Given the description of an element on the screen output the (x, y) to click on. 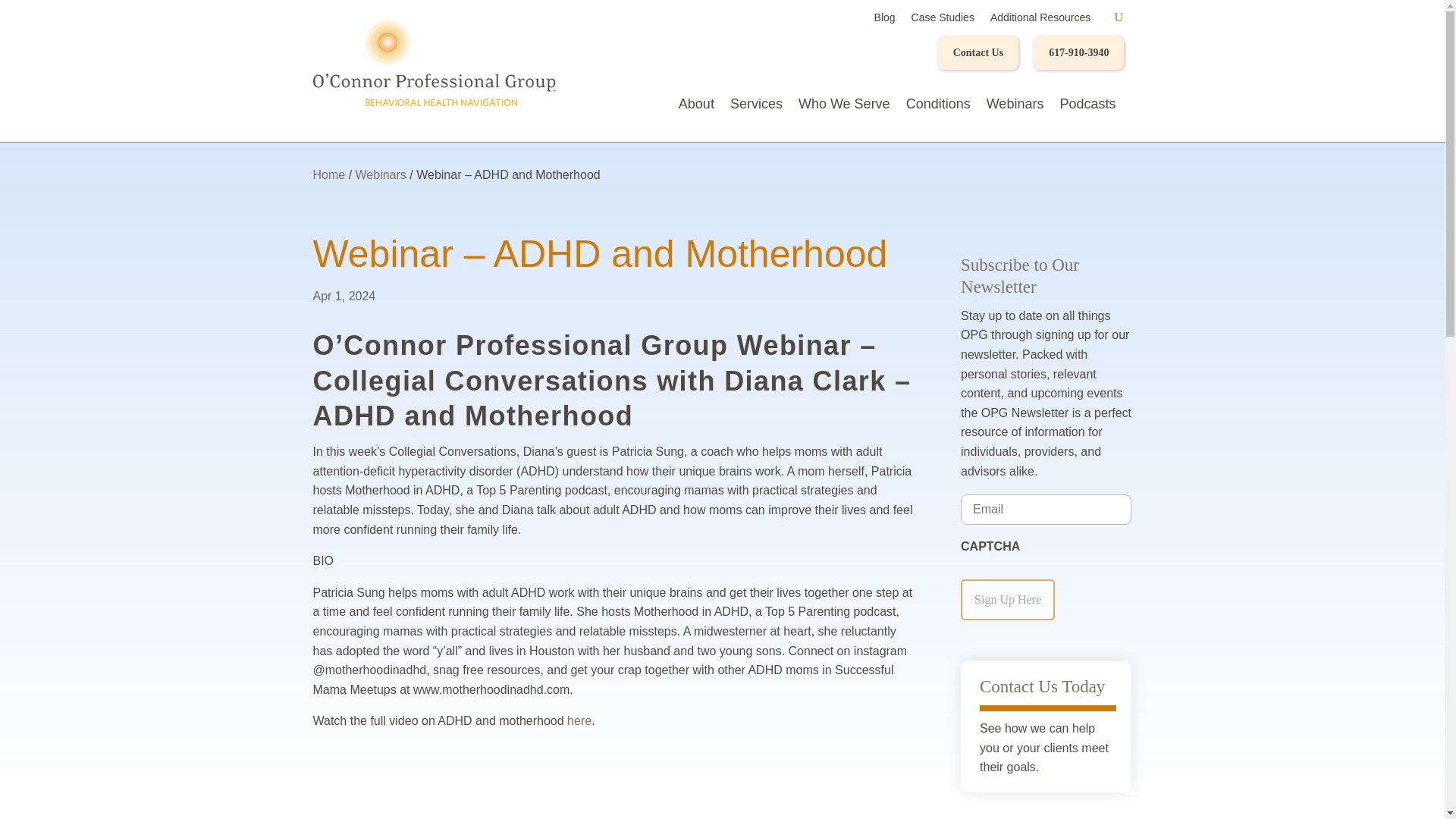
Services (756, 106)
About (696, 106)
YouTube video player (614, 780)
Additional Resources (1040, 20)
Contact Us (978, 52)
Sign Up Here (1007, 599)
O'Connor Professional Group (433, 62)
Blog (885, 20)
Who We Serve (843, 106)
617-910-3940 (1078, 52)
Conditions (938, 106)
Case Studies (942, 20)
